Given the description of an element on the screen output the (x, y) to click on. 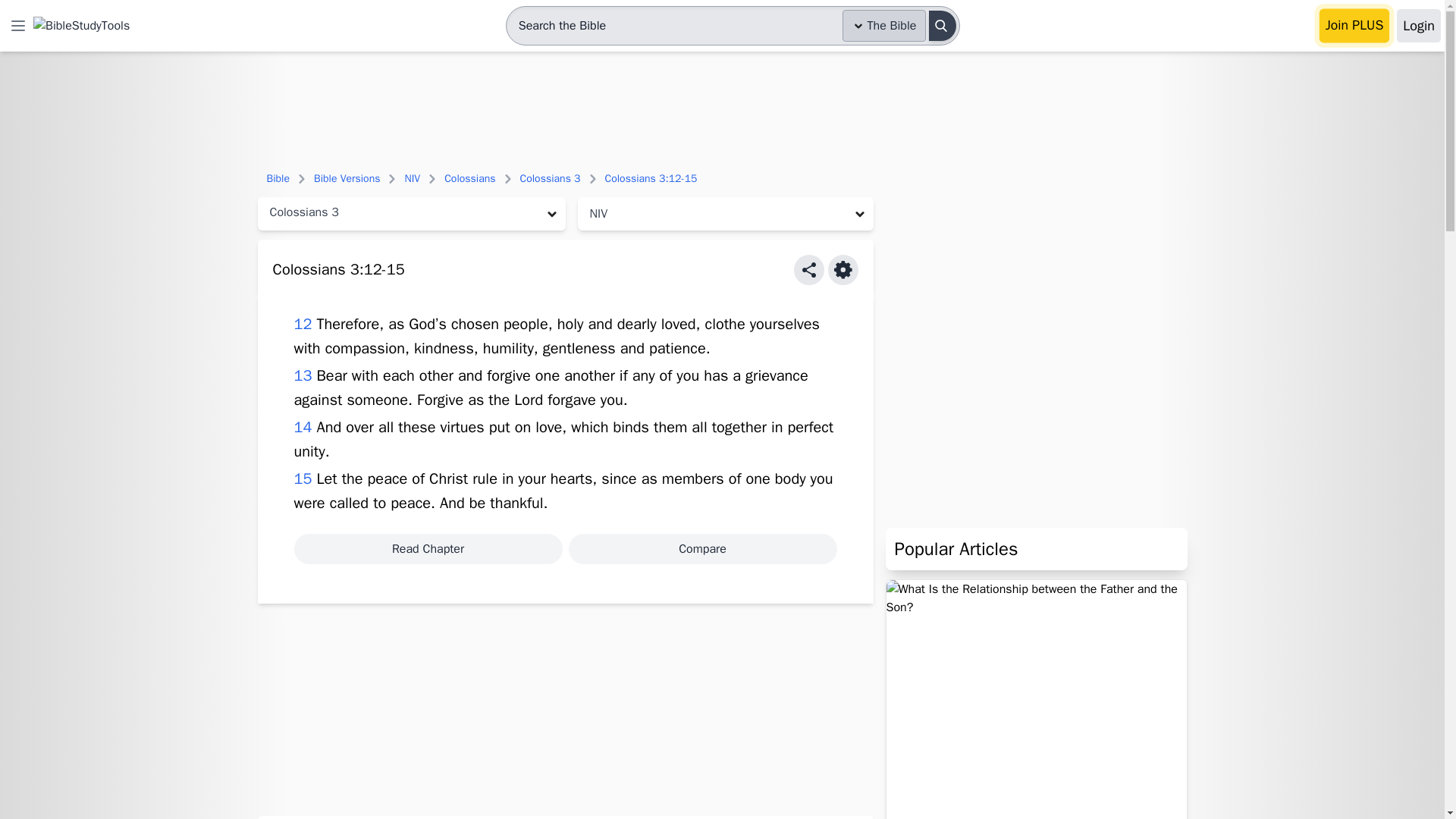
Scripture Settings (843, 269)
Login (1418, 25)
Join PLUS (1354, 25)
The Bible (884, 25)
